Given the description of an element on the screen output the (x, y) to click on. 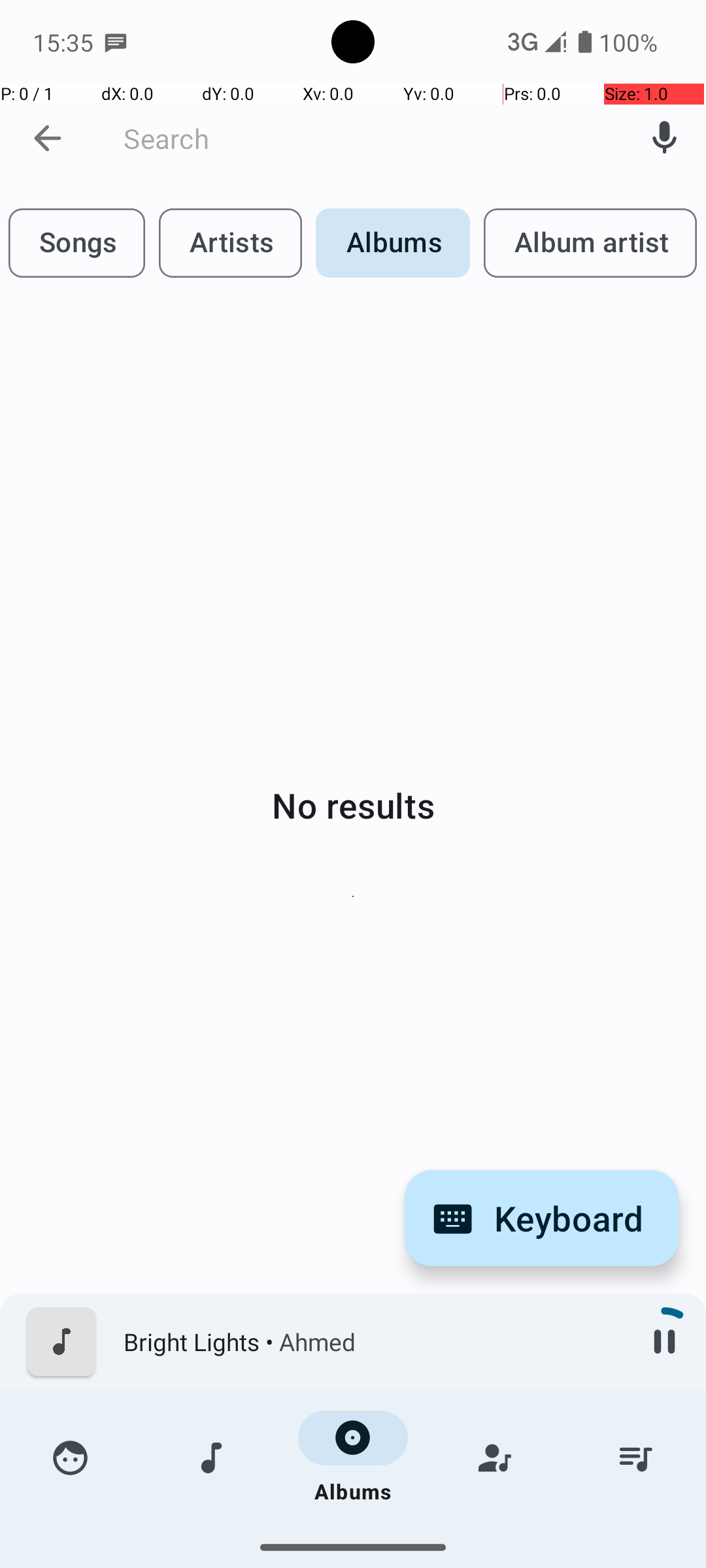
No results Element type: android.widget.TextView (352, 805)
Keyboard Element type: android.widget.Button (541, 1218)
Bright Lights • Ahmed Element type: android.widget.TextView (372, 1341)
Album artist Element type: android.widget.RadioButton (589, 242)
